Given the description of an element on the screen output the (x, y) to click on. 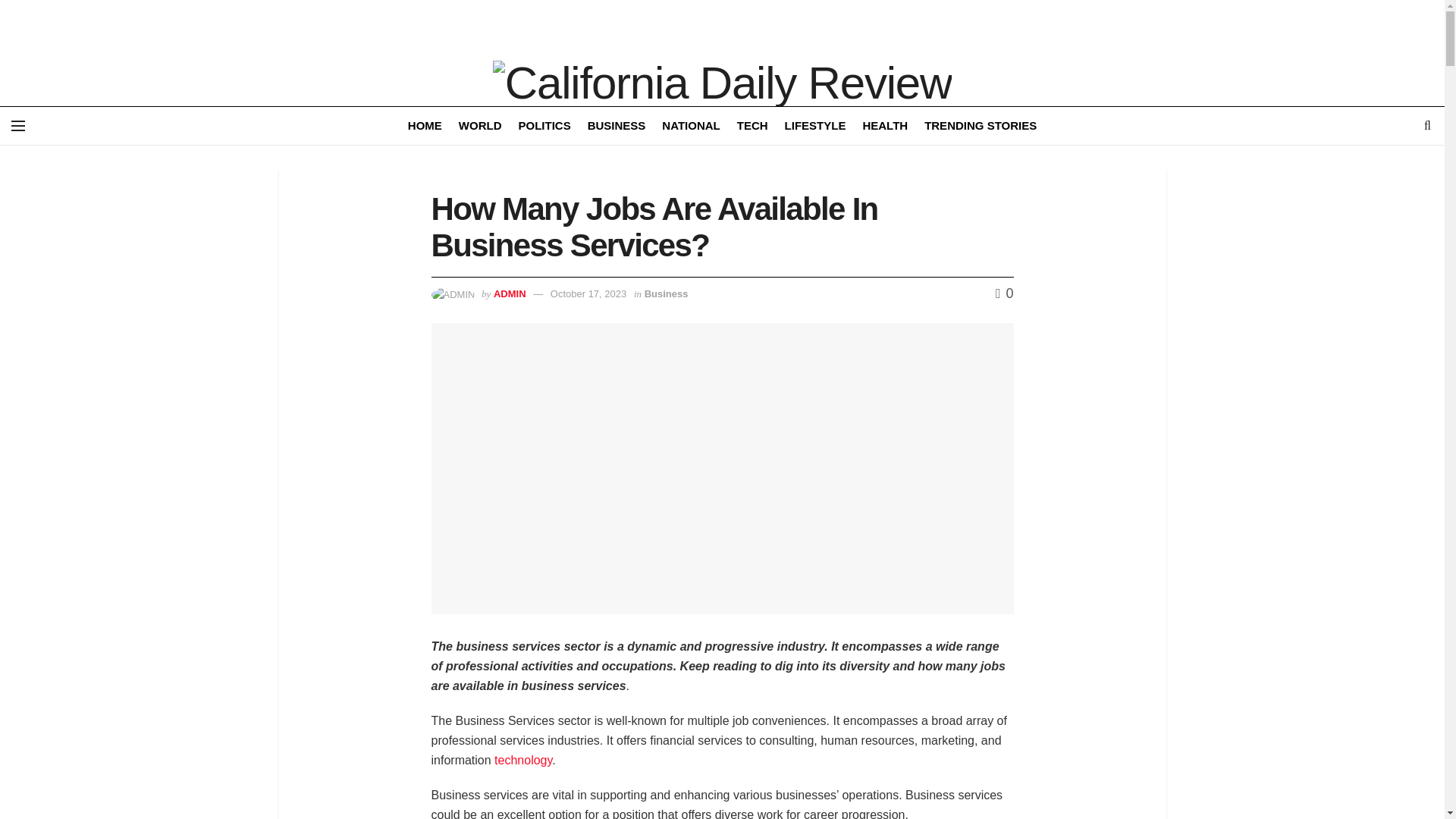
Business (666, 293)
TECH (752, 125)
POLITICS (544, 125)
ADMIN (509, 293)
HOME (424, 125)
October 17, 2023 (588, 293)
TRENDING STORIES (980, 125)
BUSINESS (617, 125)
0 (1004, 293)
WORLD (480, 125)
